Given the description of an element on the screen output the (x, y) to click on. 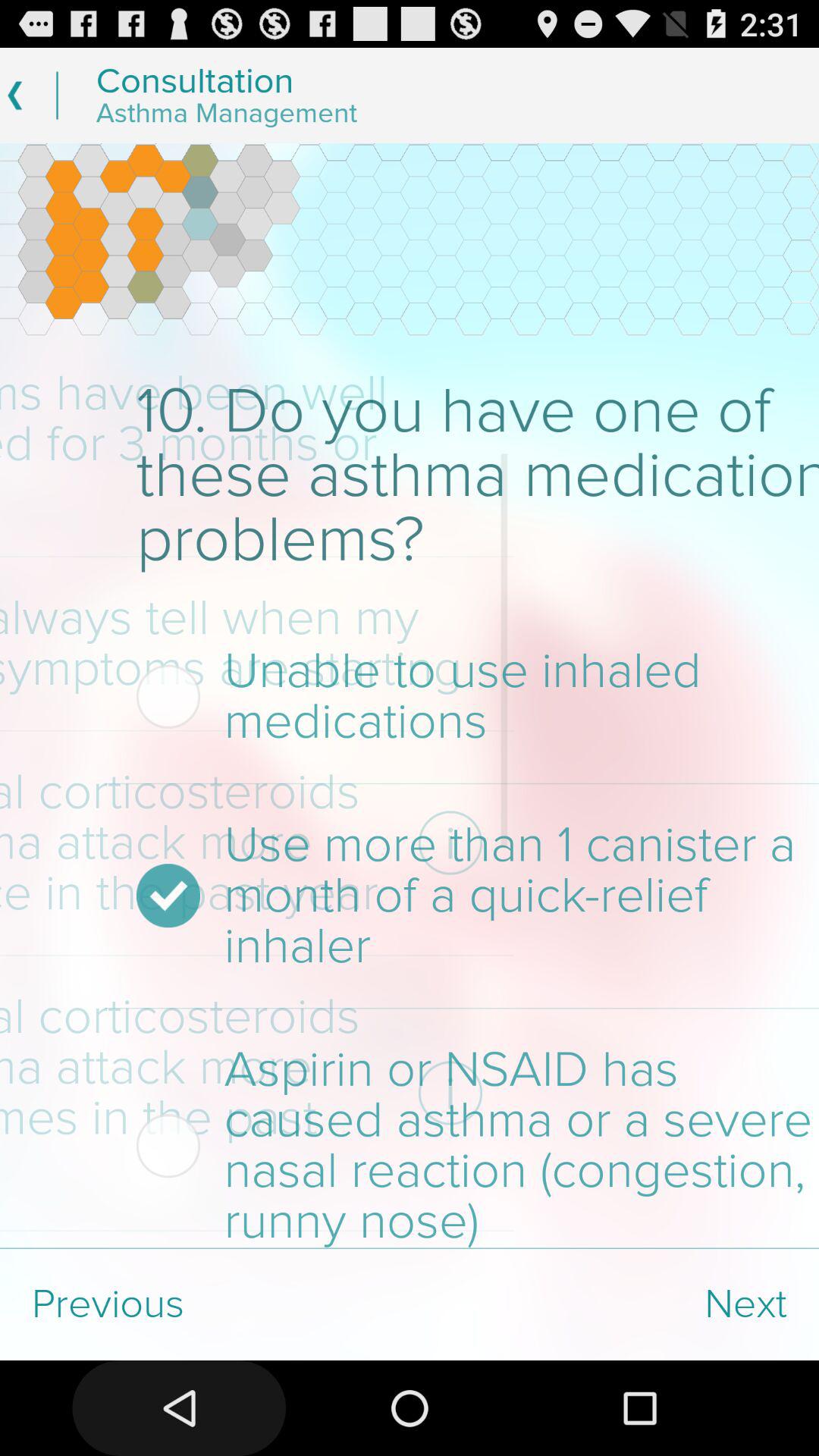
click the app to the right of the previous icon (614, 1304)
